Given the description of an element on the screen output the (x, y) to click on. 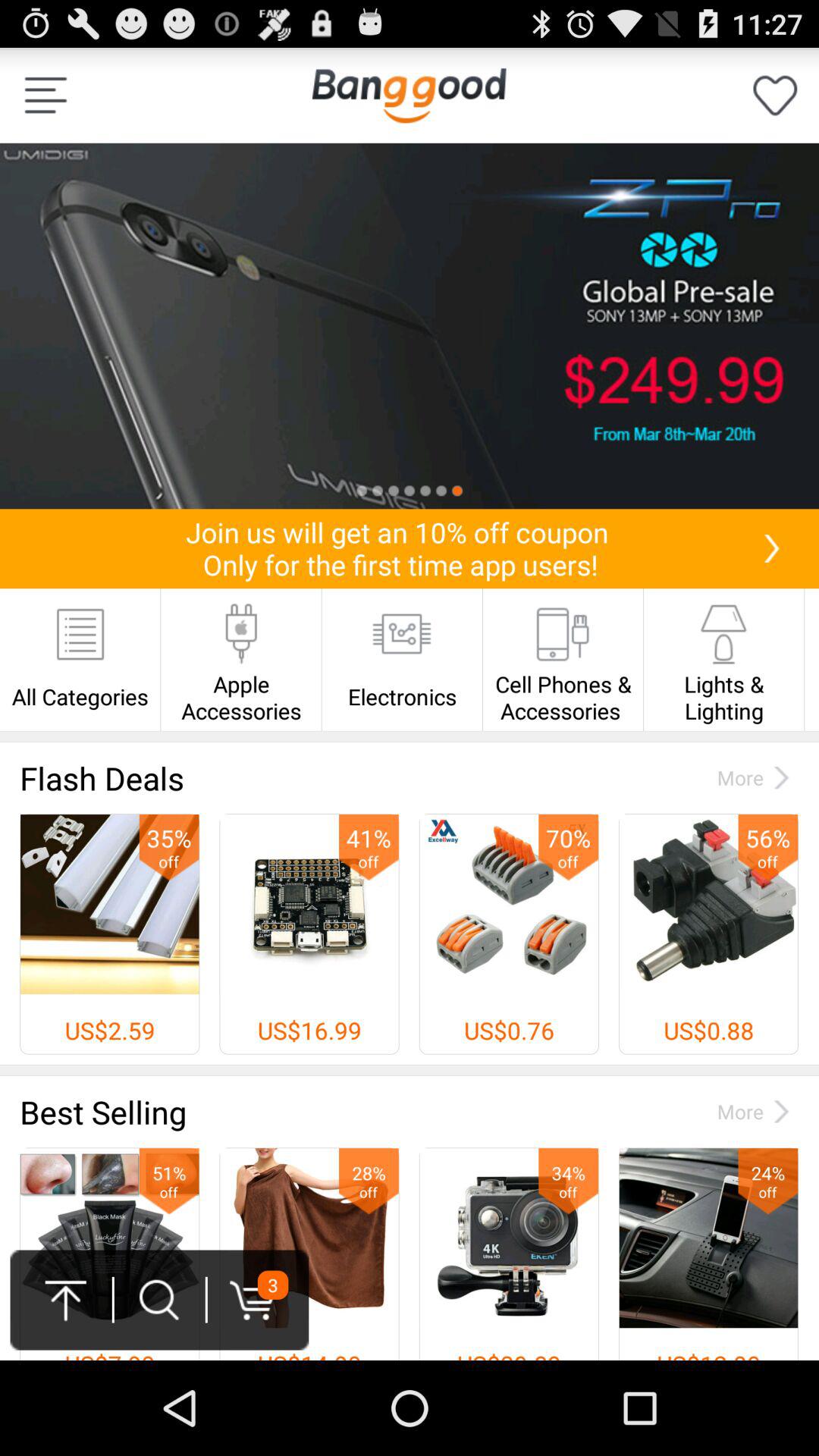
menu options (45, 95)
